Given the description of an element on the screen output the (x, y) to click on. 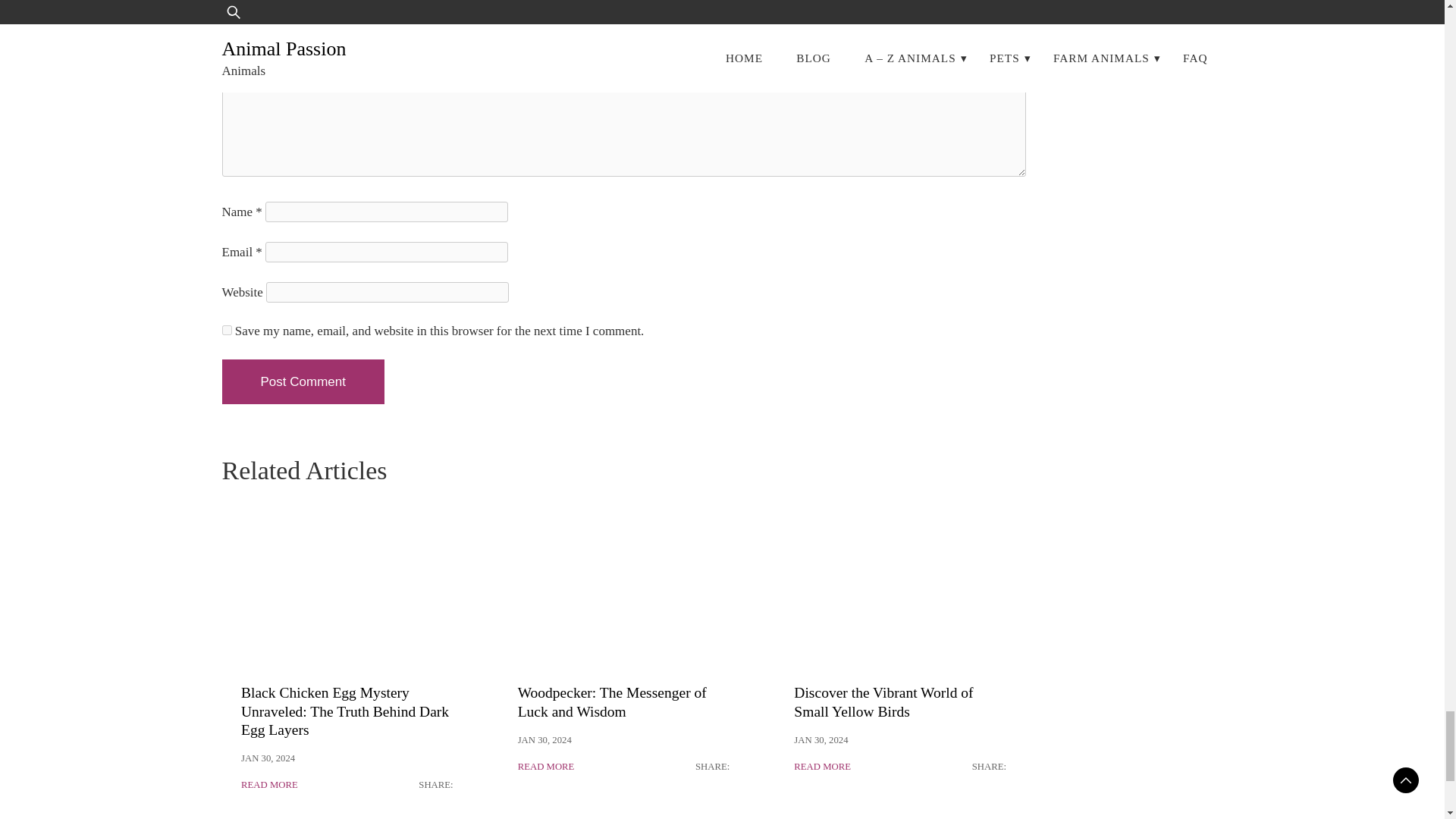
Post Comment (302, 381)
yes (226, 329)
